Given the description of an element on the screen output the (x, y) to click on. 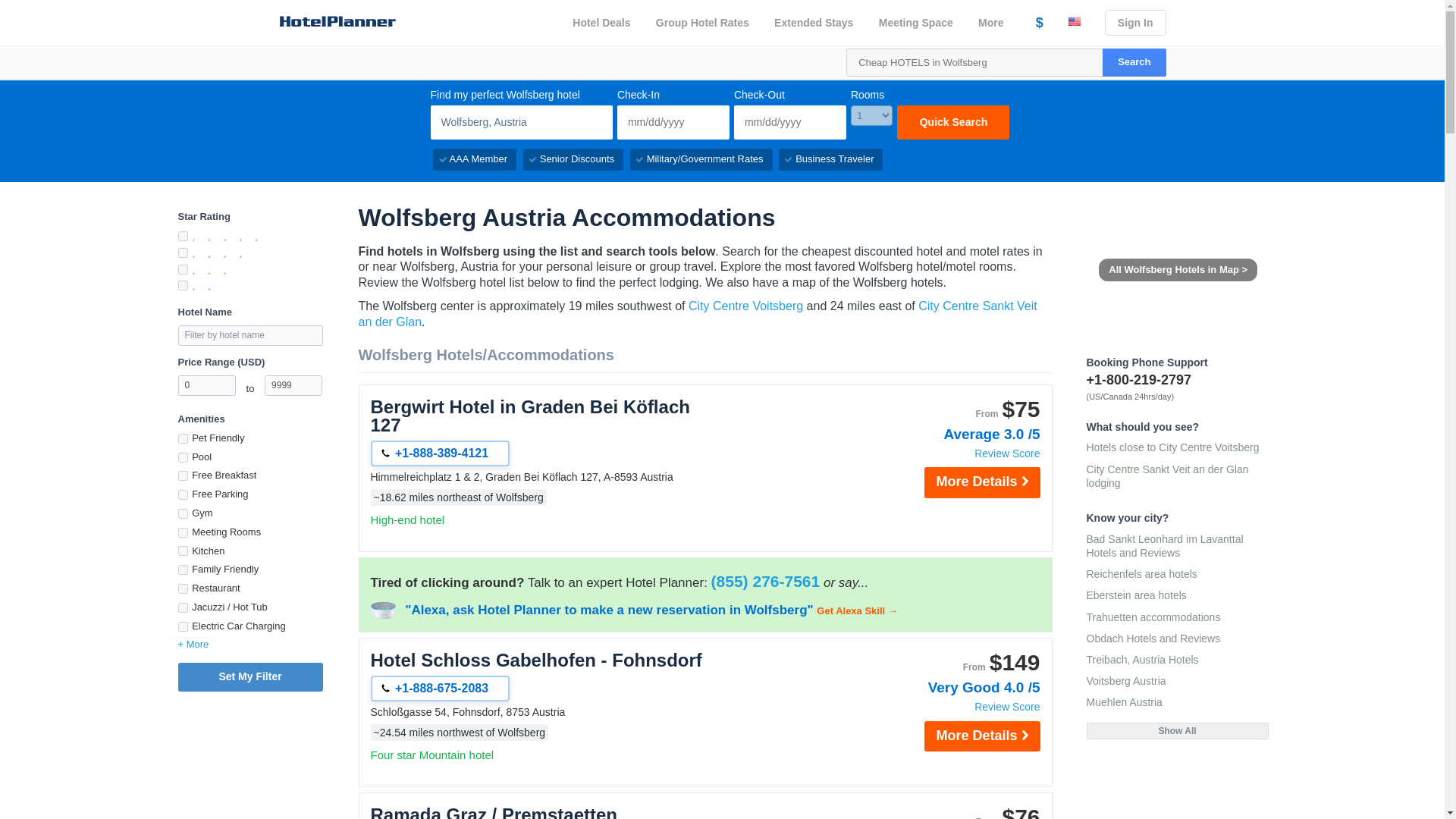
Sign In (1135, 22)
City Centre Voitsberg (745, 305)
Quick Search (952, 122)
Search (1134, 62)
Quick Search (952, 122)
Hotel Deals (601, 22)
0 (205, 385)
5 (182, 235)
City Centre Sankt Veit an der Glan (697, 313)
2131 (182, 532)
More (994, 22)
1073745198 (182, 569)
9999 (292, 385)
More Details (981, 481)
Extended Stays (813, 22)
